Given the description of an element on the screen output the (x, y) to click on. 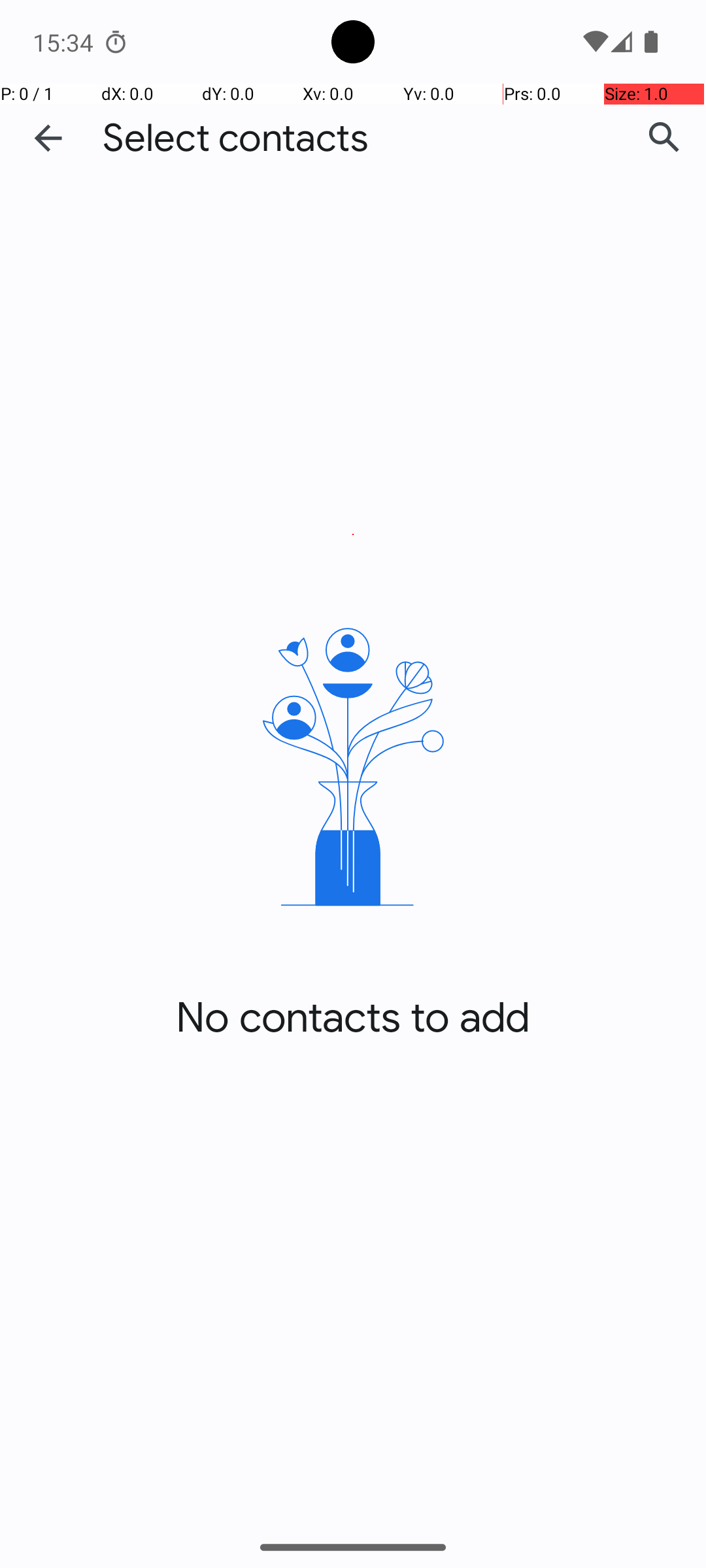
Select contacts Element type: android.widget.TextView (235, 138)
Search contacts Element type: android.widget.Button (664, 137)
No contacts to add Element type: android.widget.TextView (352, 1017)
